Given the description of an element on the screen output the (x, y) to click on. 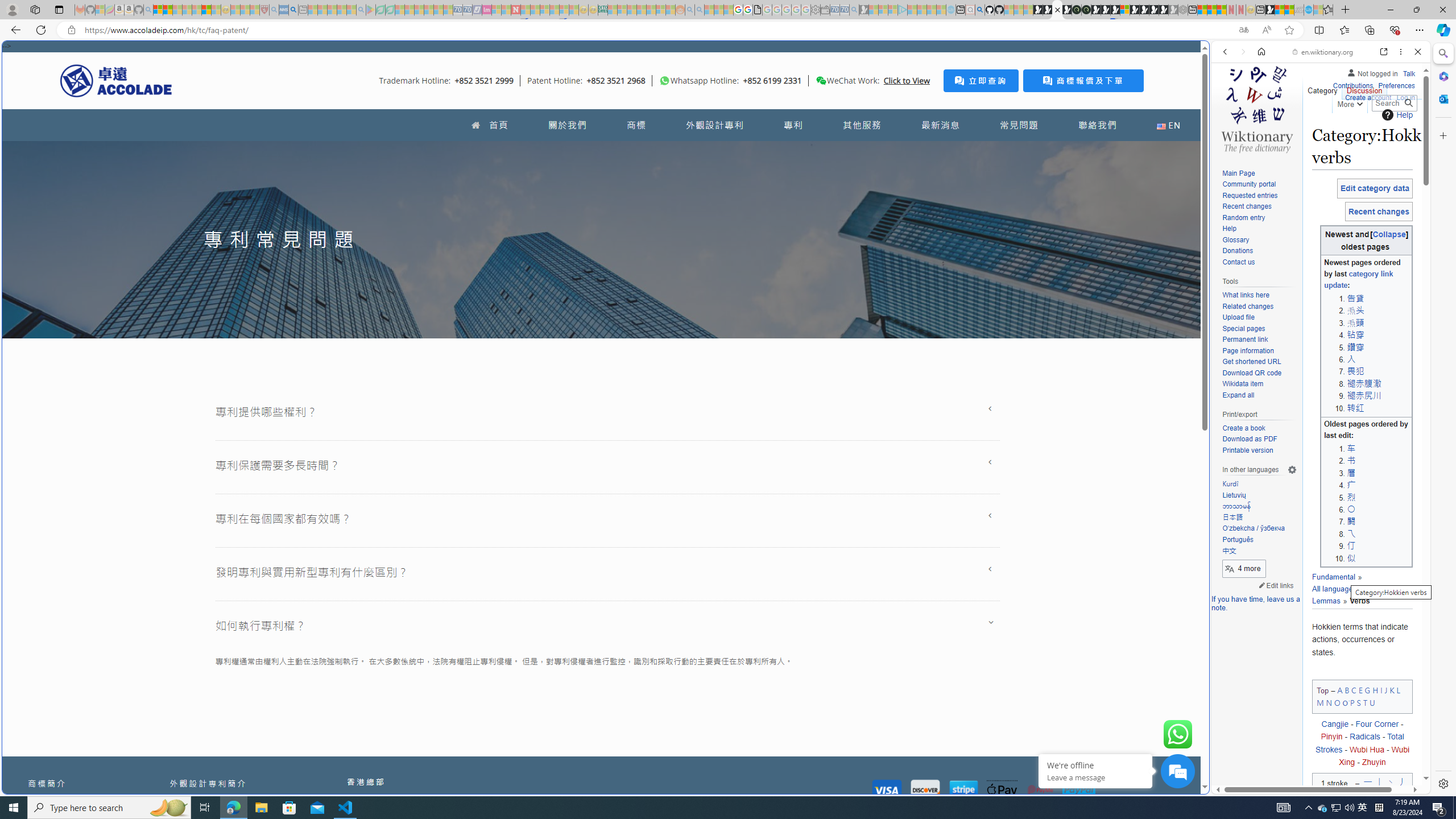
Future Focus Report 2024 (1085, 9)
Donations (1237, 250)
Wiktionary (1315, 380)
